Given the description of an element on the screen output the (x, y) to click on. 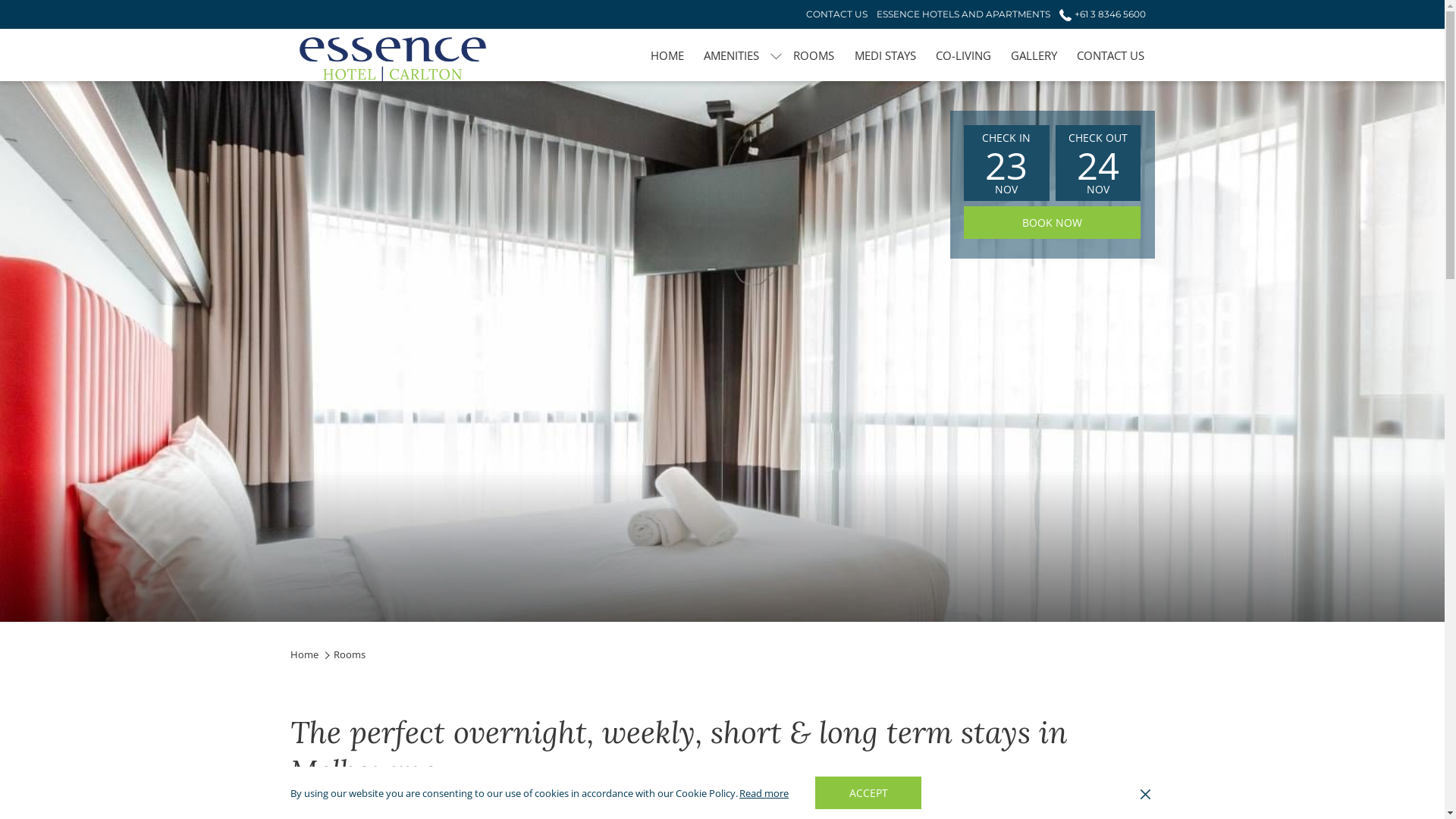
CO-LIVING Element type: text (963, 54)
GALLERY Element type: text (1033, 54)
ESSENCE HOTELS AND APARTMENTS Element type: text (963, 13)
ACCEPT Element type: text (868, 792)
Read more Element type: text (763, 792)
CONTACT US Element type: text (1110, 54)
Back to the homepage Element type: hover (391, 59)
Home Element type: text (303, 654)
AMENITIES Element type: text (730, 54)
ROOMS Element type: text (813, 54)
MEDI STAYS Element type: text (884, 54)
+61 3 8346 5600 Element type: text (1097, 13)
HOME Element type: text (666, 54)
Rooms Element type: text (349, 654)
BOOK NOW
OPENS IN A NEW TAB Element type: text (1051, 222)
CONTACT US Element type: text (836, 13)
